Given the description of an element on the screen output the (x, y) to click on. 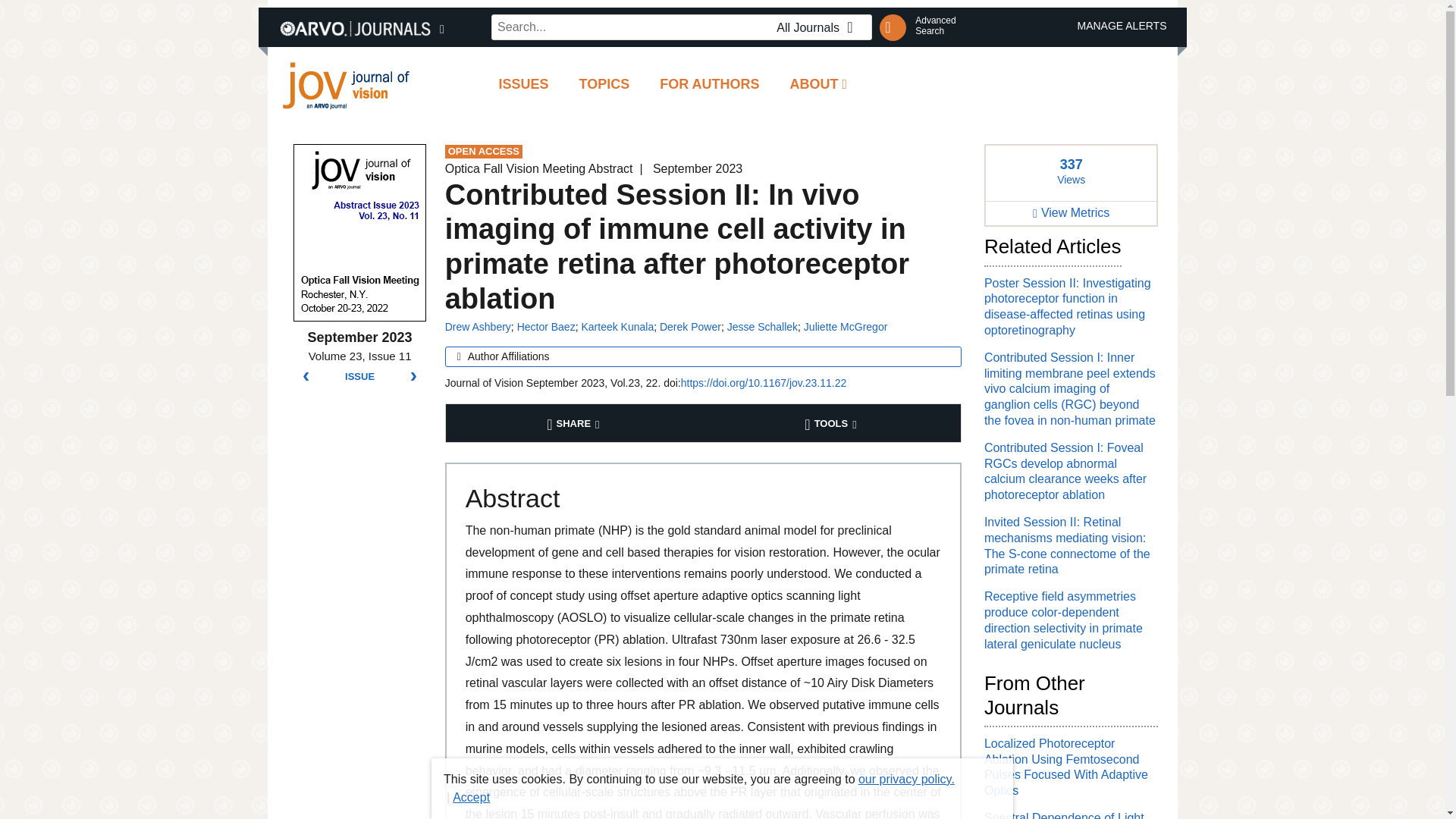
Drew Ashbery (478, 326)
Juliette McGregor (844, 326)
TOPICS (604, 84)
ABOUT (818, 84)
All Journals (819, 27)
Karteek Kunala (616, 326)
Derek Power (689, 326)
Hector Baez (545, 326)
FOR AUTHORS (709, 84)
Jesse Schallek (761, 326)
